Given the description of an element on the screen output the (x, y) to click on. 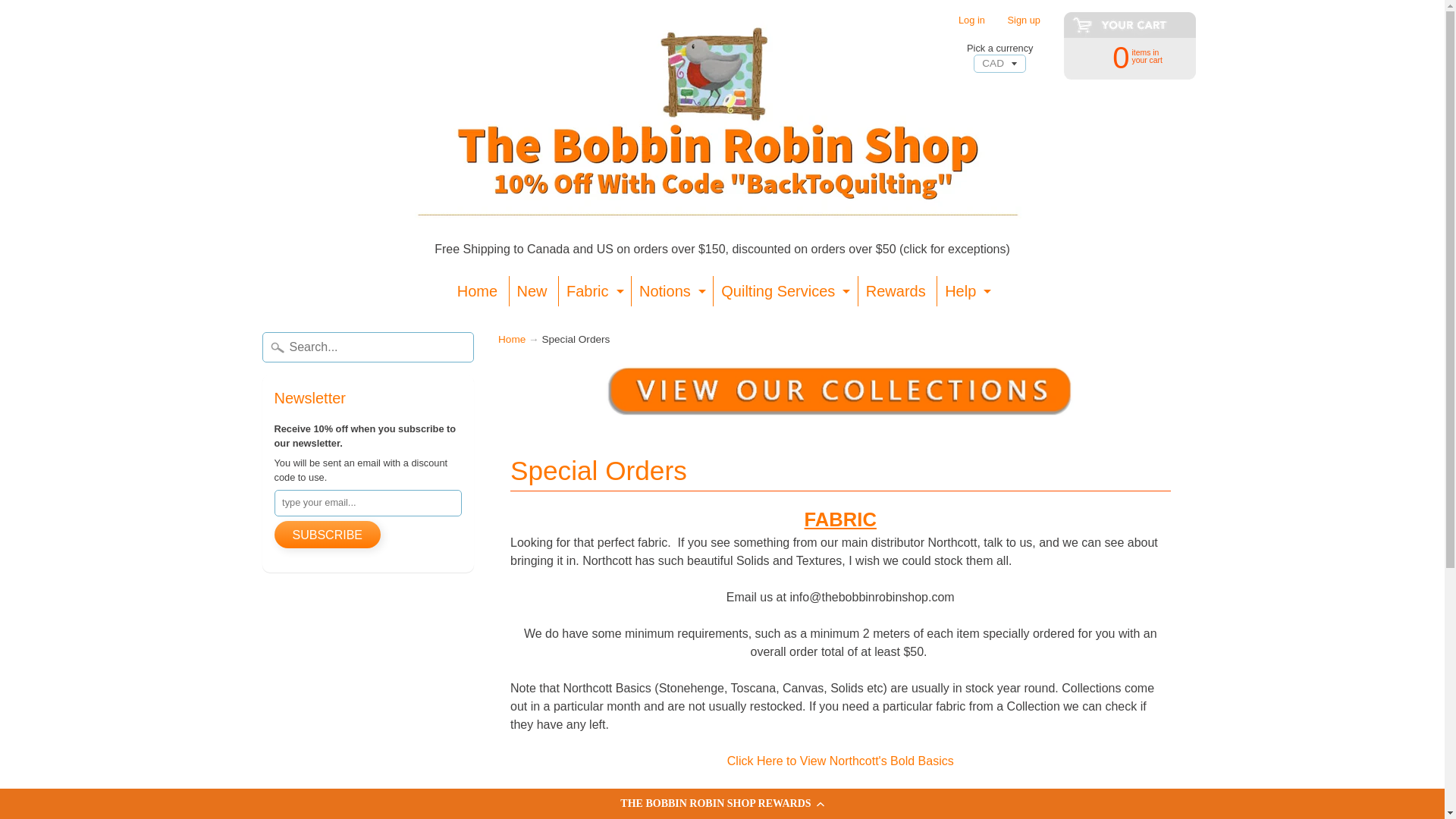
Log in (970, 20)
Sign up (1122, 56)
Back to the home page (1024, 20)
The Bobbin Robin Shop (511, 338)
Rewards (670, 291)
